Given the description of an element on the screen output the (x, y) to click on. 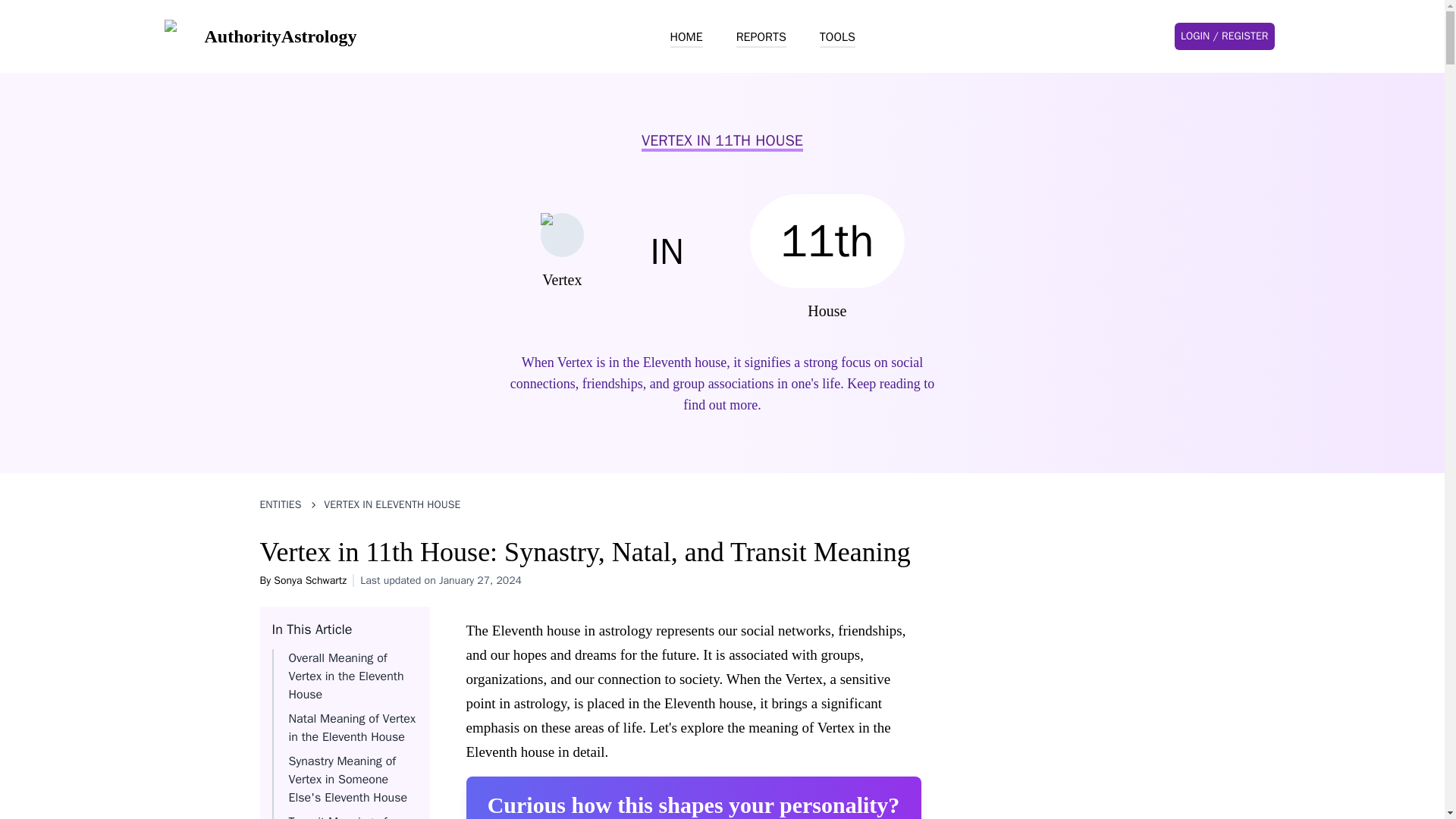
VERTEX IN ELEVENTH HOUSE (391, 504)
HOME (686, 37)
TOOLS (837, 37)
Overall Meaning of Vertex in the Eleventh House (345, 675)
Natal Meaning of Vertex in the Eleventh House (351, 727)
AuthorityAstrology (259, 36)
Transit Meaning of Vertex in the Eleventh House (345, 816)
Synastry Meaning of Vertex in Someone Else's Eleventh House (347, 779)
REPORTS (761, 37)
Sonya Schwartz (309, 580)
